Given the description of an element on the screen output the (x, y) to click on. 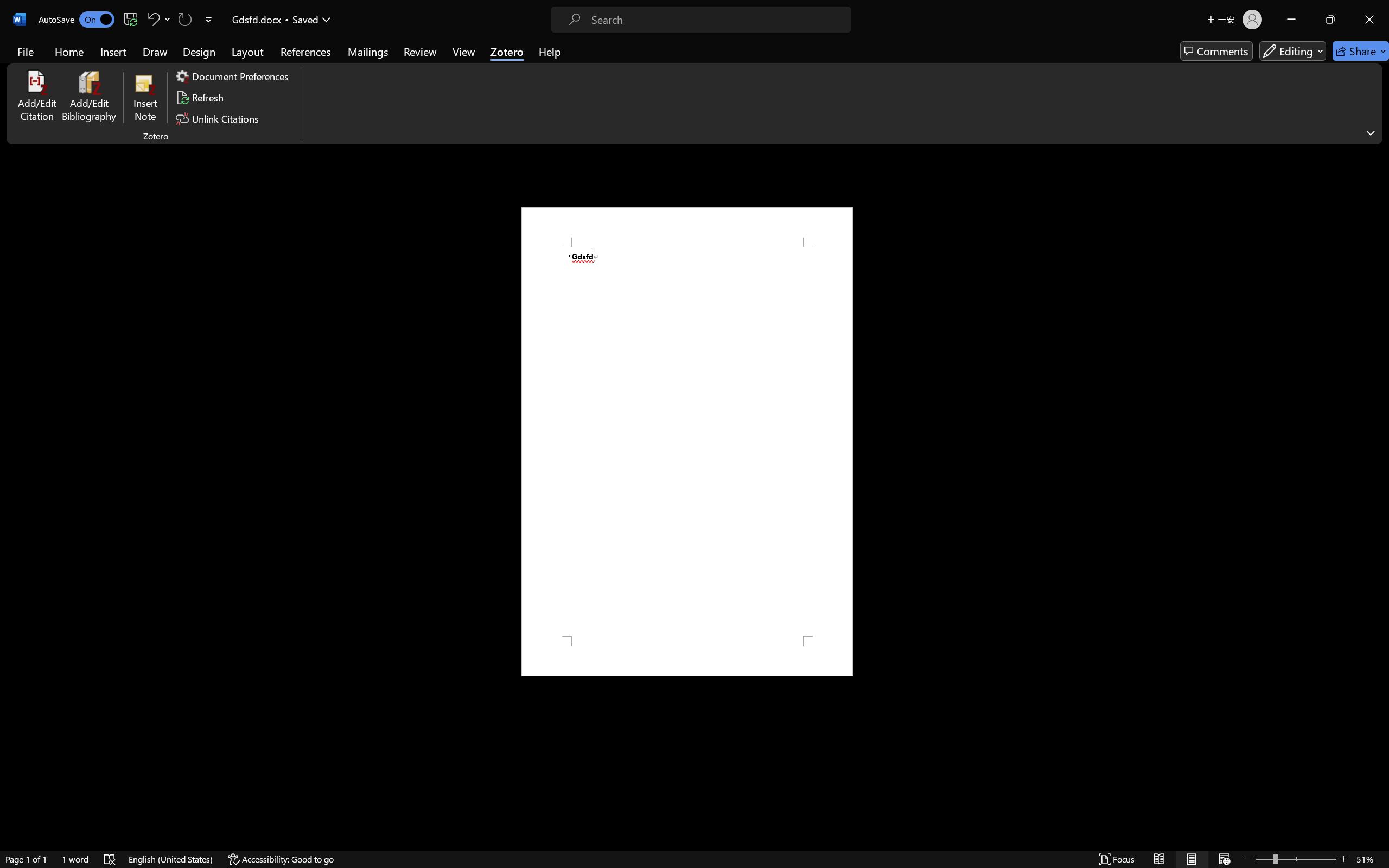
Page 1 content (686, 441)
